Given the description of an element on the screen output the (x, y) to click on. 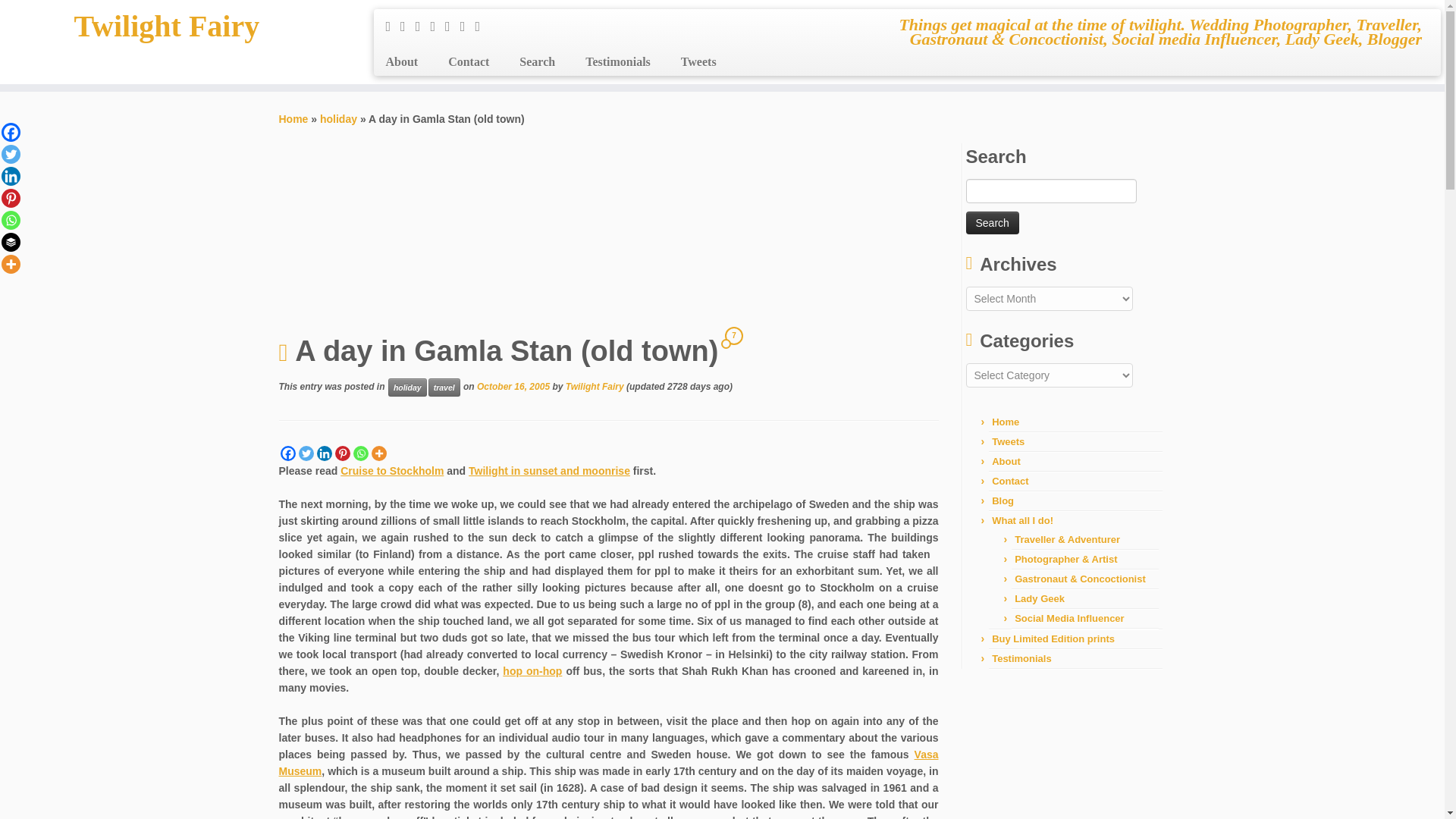
About (406, 62)
Twilight Fairy (293, 119)
holiday (338, 119)
Follow me on Instagram (437, 26)
View all posts in travel (444, 387)
holiday (338, 119)
Vasa Museum (609, 762)
travel (444, 387)
Tweets (690, 62)
Contact (467, 62)
Search (536, 62)
holiday (407, 387)
hop on-hop (532, 671)
Twilight Fairy (595, 386)
Twilight Fairy (166, 26)
